Given the description of an element on the screen output the (x, y) to click on. 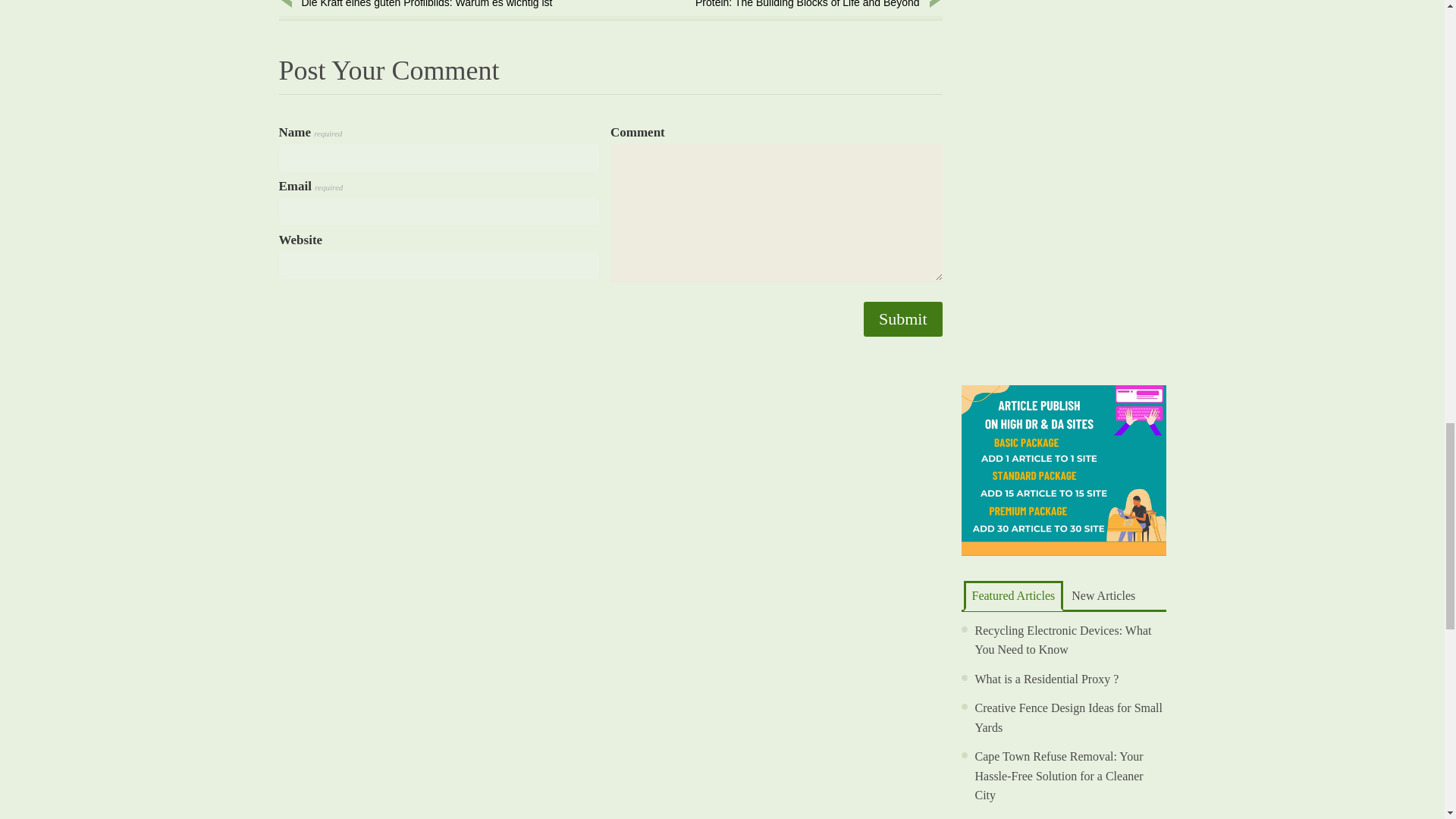
What is a Residential Proxy ? (1047, 677)
Submit (902, 319)
New Articles (1103, 595)
Featured Articles (797, 6)
Recycling Electronic Devices: What You Need to Know (1012, 595)
Submit (1063, 639)
Featured Articles (902, 319)
Creative Fence Design Ideas for Small Yards (1012, 595)
New Articles (1068, 717)
